Given the description of an element on the screen output the (x, y) to click on. 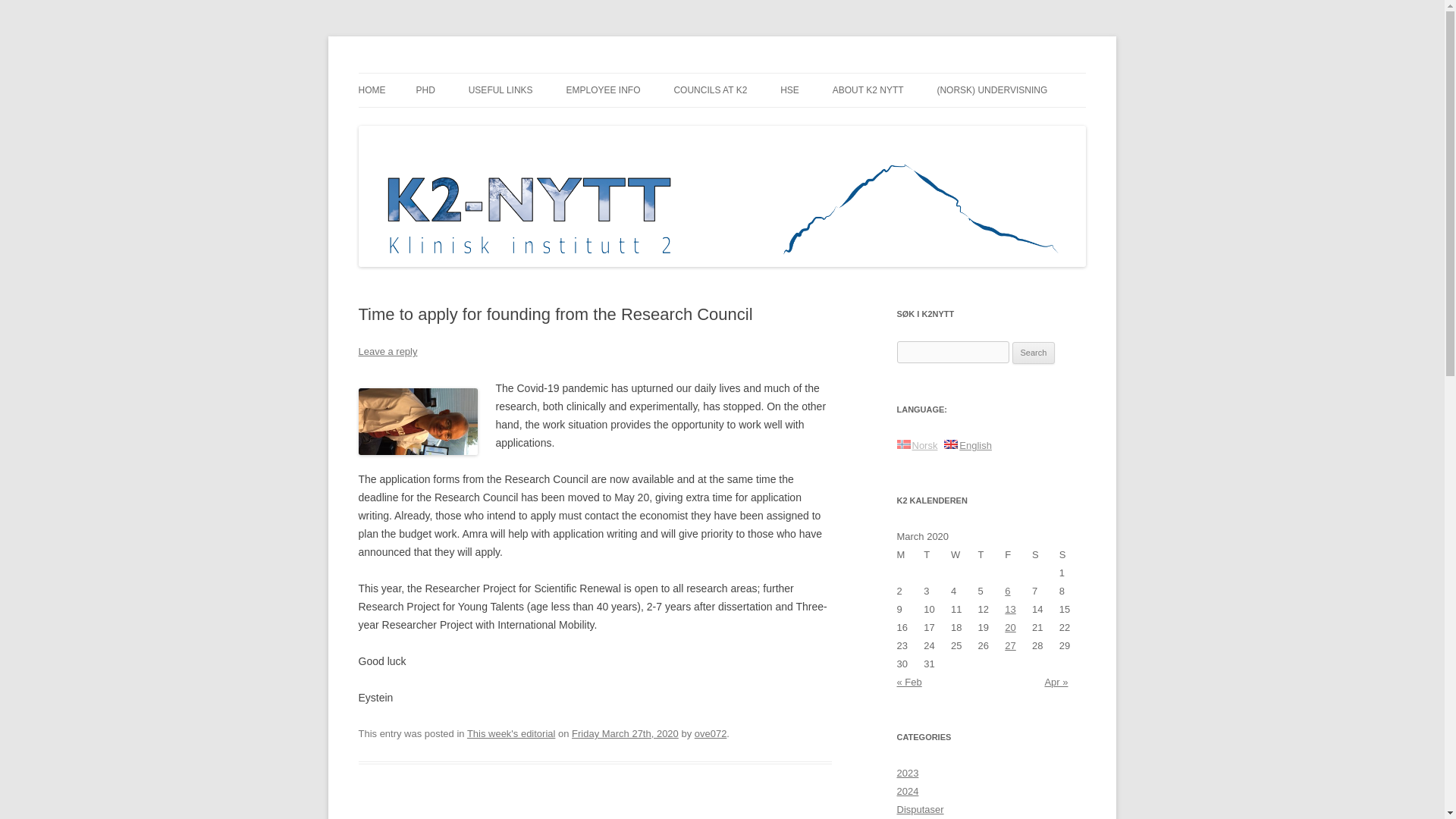
Leave a reply (387, 351)
K2 Nytt (392, 72)
Search (1033, 353)
Saturday (1045, 555)
Wednesday (964, 555)
COUNCILS AT K2 (709, 90)
Monday (909, 555)
ove072 (710, 733)
USEFUL LINKS (500, 90)
Search (1033, 353)
View all posts by ove072 (710, 733)
Sunday (1072, 555)
RESEARCH COMMITTEE (748, 122)
HSE HANDBOOK FOR K2 (855, 122)
